Given the description of an element on the screen output the (x, y) to click on. 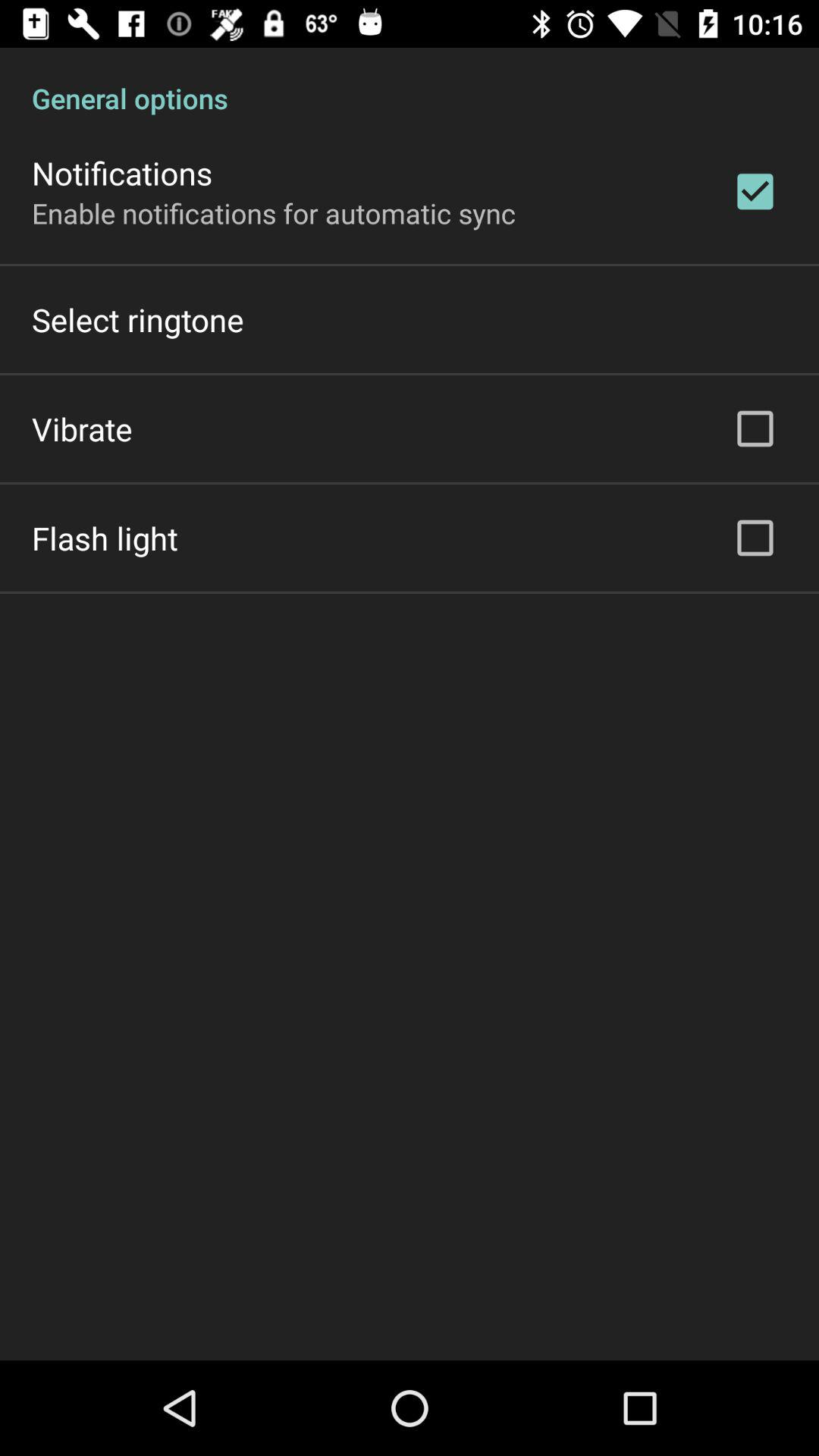
open item below notifications (273, 213)
